Given the description of an element on the screen output the (x, y) to click on. 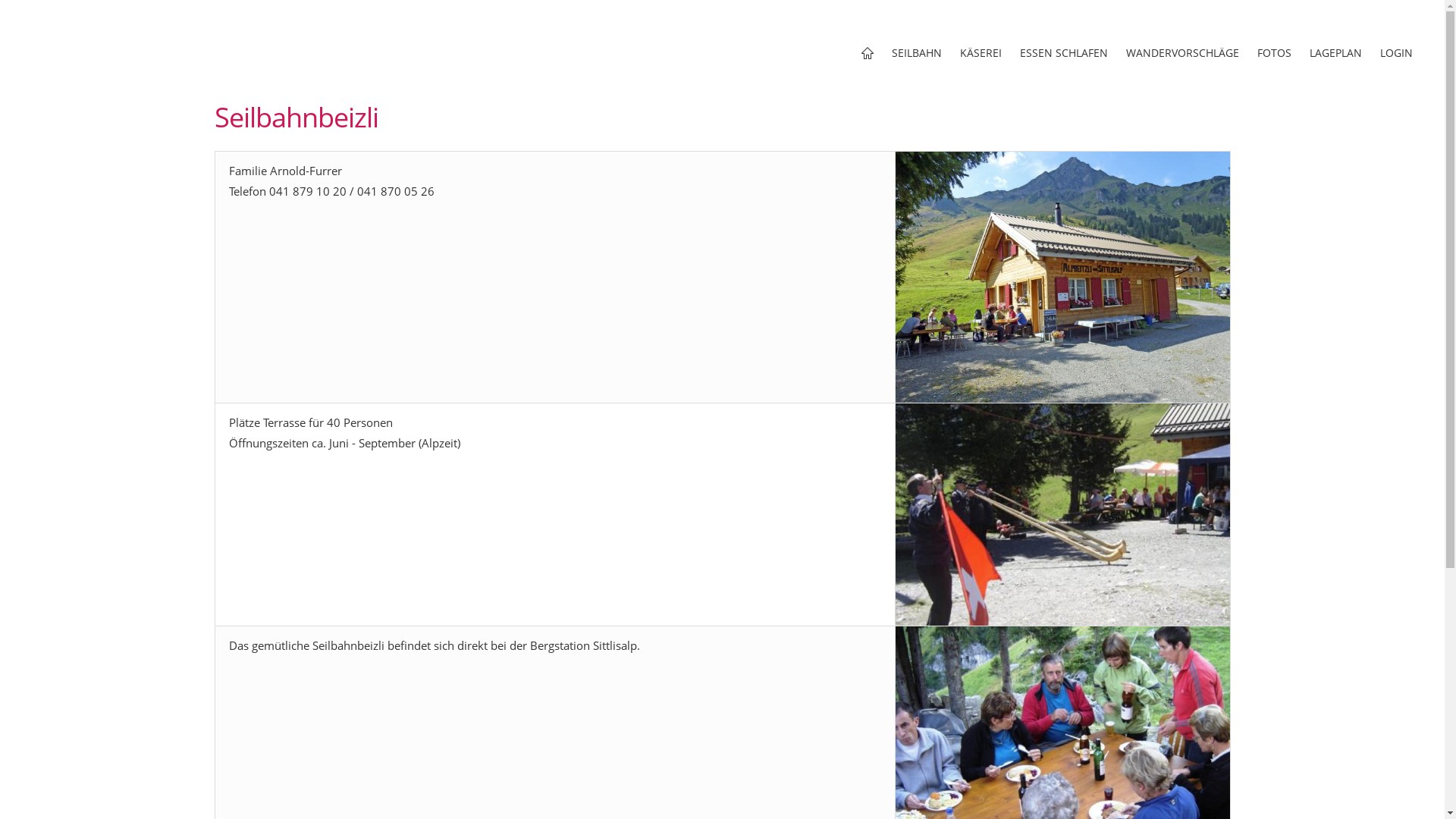
LAGEPLAN Element type: text (1335, 53)
LOGIN Element type: text (1396, 53)
ESSEN SCHLAFEN Element type: text (1063, 53)
FOTOS Element type: text (1274, 53)
SEILBAHN Element type: text (916, 53)
